Given the description of an element on the screen output the (x, y) to click on. 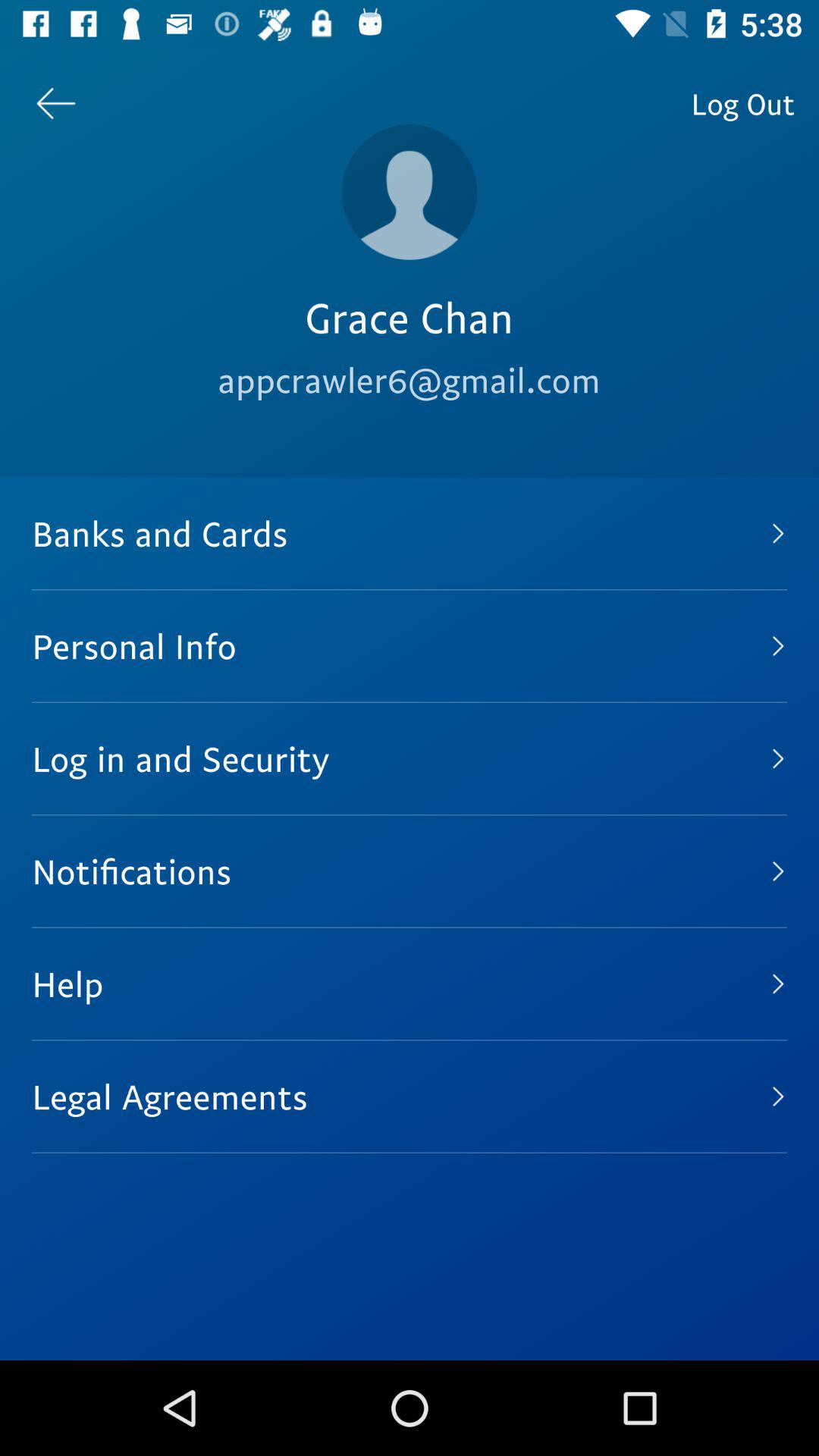
tap icon above banks and cards icon (743, 103)
